Given the description of an element on the screen output the (x, y) to click on. 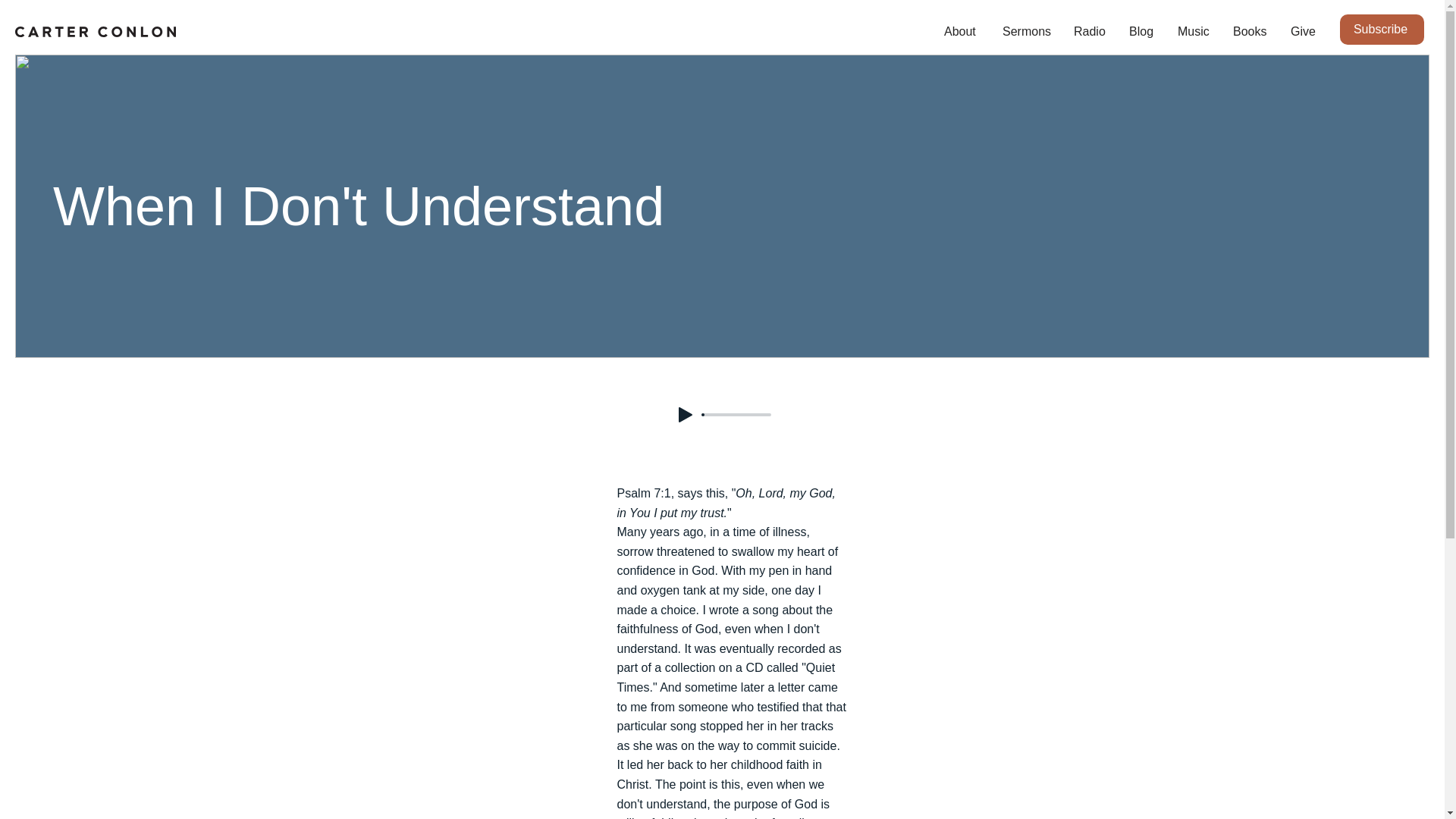
Give (1302, 31)
Sermons (1026, 31)
Blog (1142, 31)
Books (1250, 31)
Radio (1090, 31)
0 (735, 414)
About (962, 31)
Subscribe (1381, 29)
Music (1193, 31)
